Given the description of an element on the screen output the (x, y) to click on. 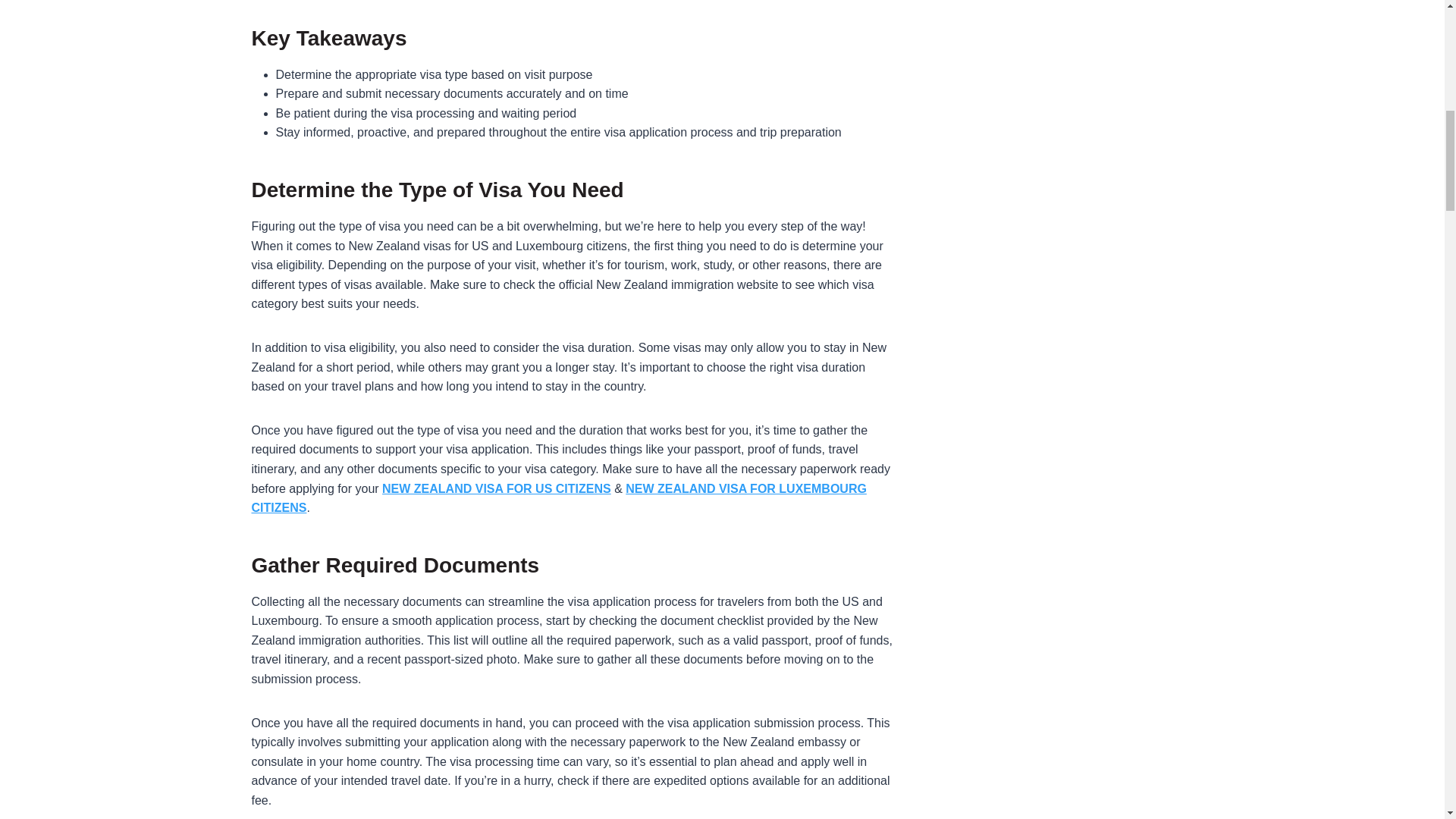
NEW ZEALAND VISA FOR US CITIZENS (496, 488)
NEW ZEALAND VISA FOR LUXEMBOURG CITIZENS (558, 498)
